Given the description of an element on the screen output the (x, y) to click on. 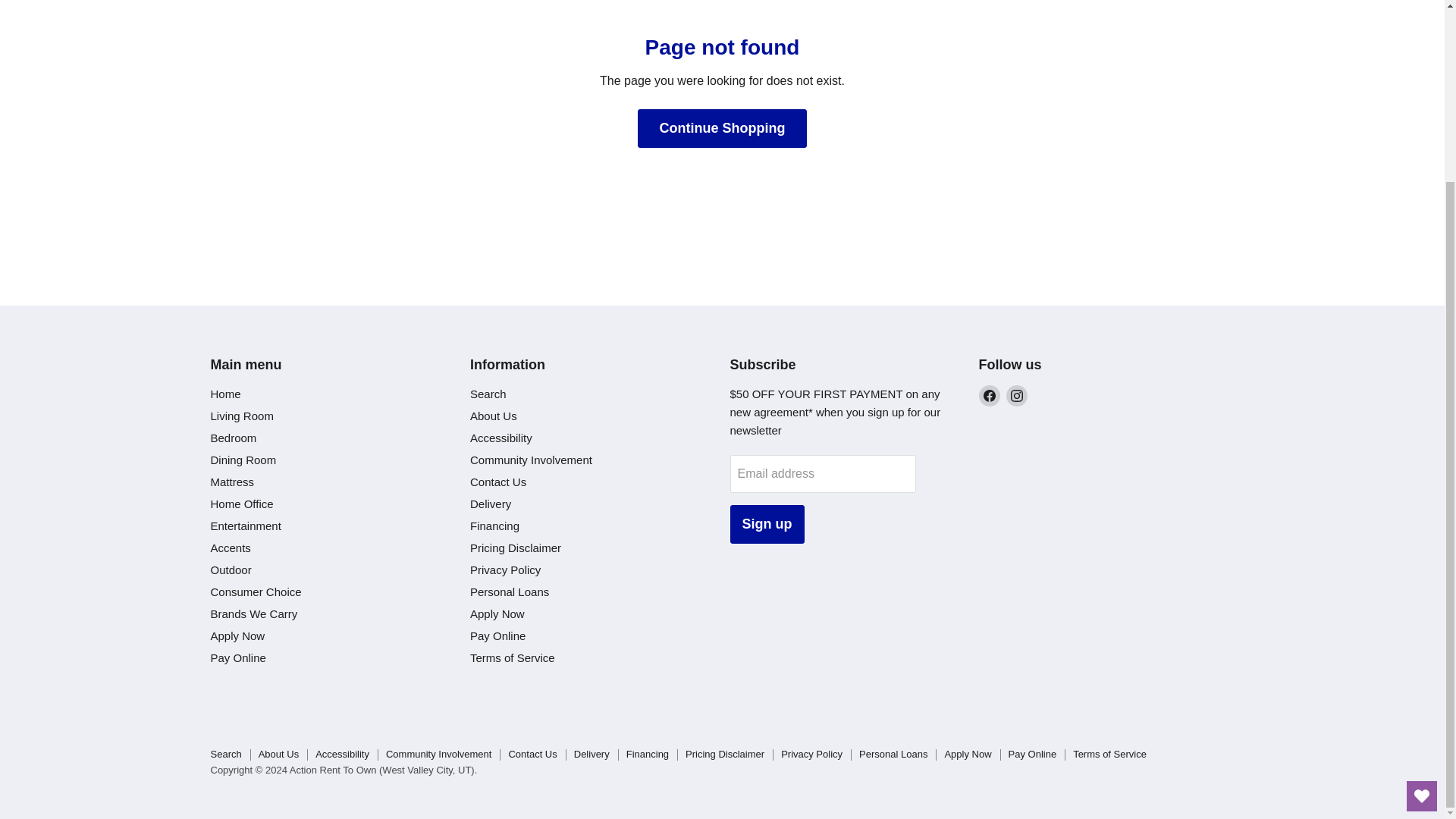
Instagram (1016, 395)
Facebook (988, 395)
